Given the description of an element on the screen output the (x, y) to click on. 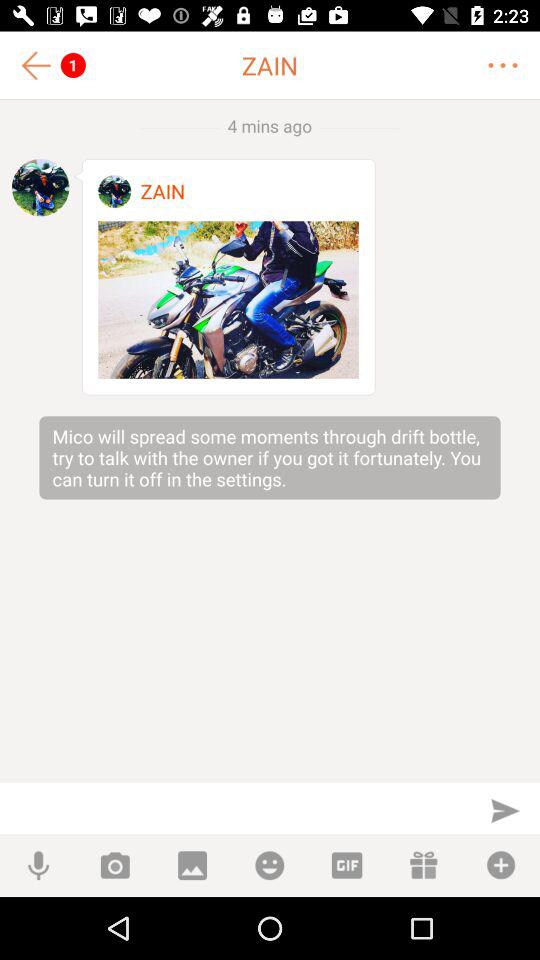
view profile (40, 187)
